Given the description of an element on the screen output the (x, y) to click on. 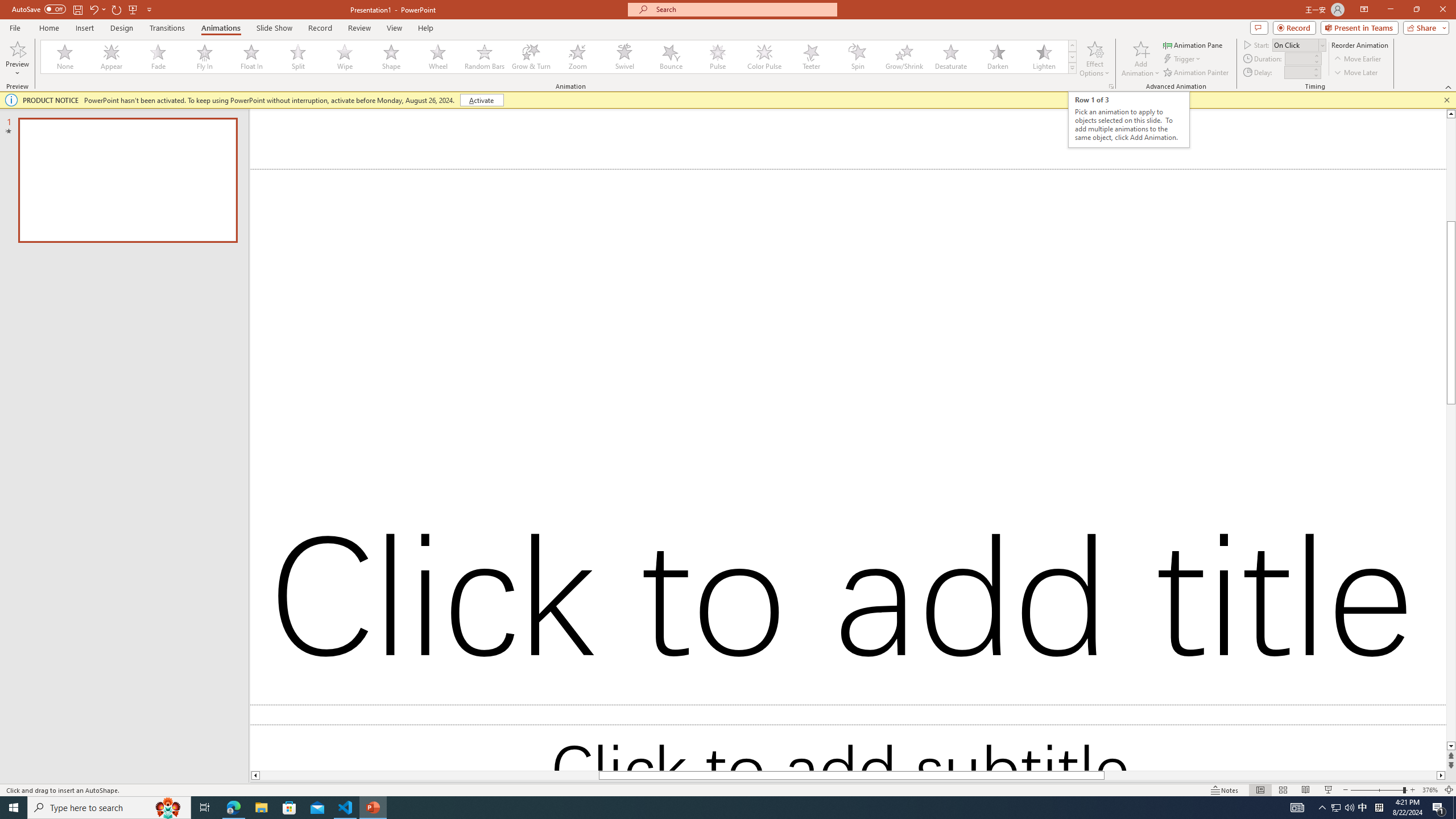
Fly In (205, 56)
